Given the description of an element on the screen output the (x, y) to click on. 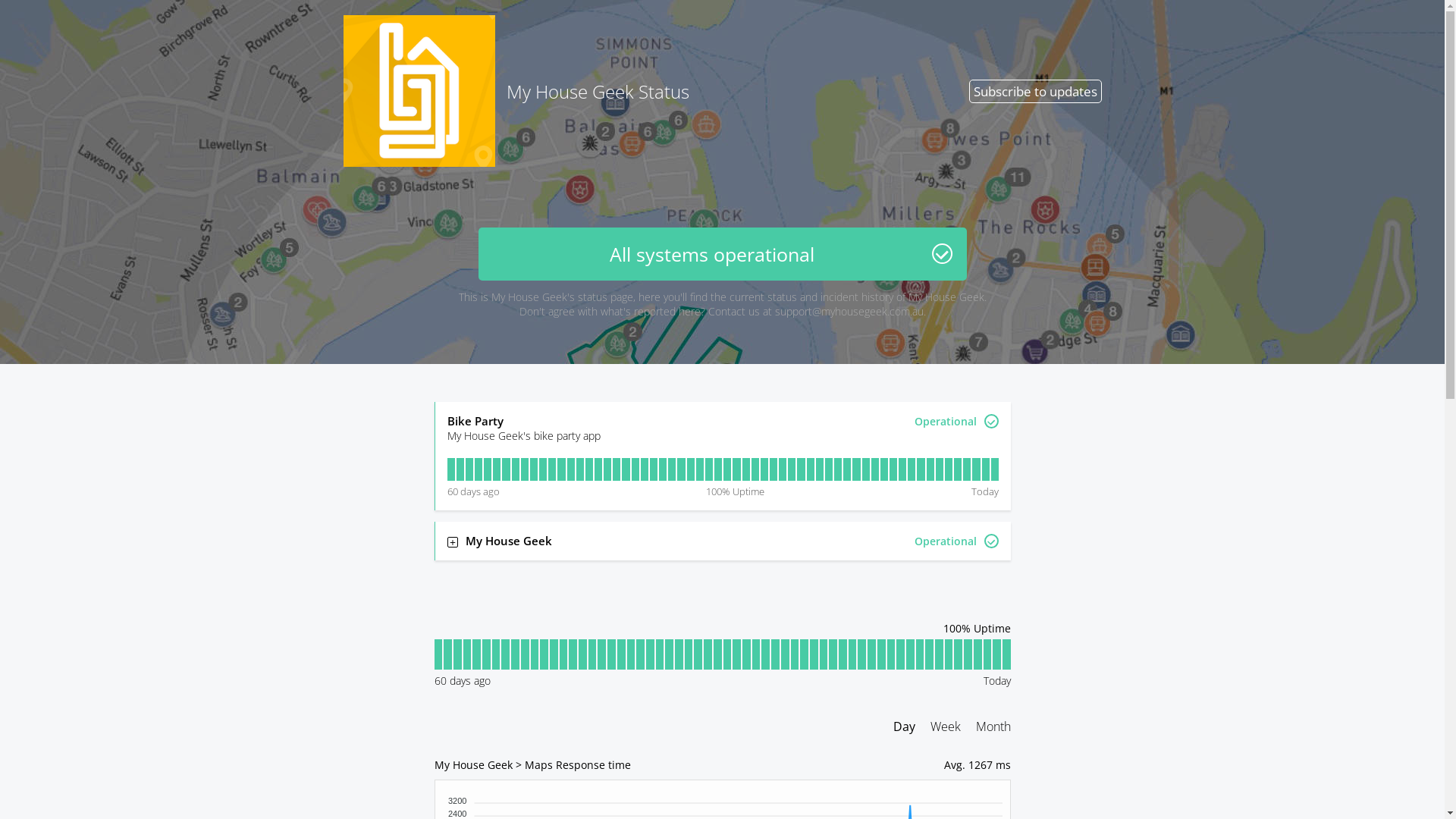
My House Geek Status Element type: text (515, 90)
Week Element type: text (944, 726)
Subscribe to updates Element type: text (1035, 90)
Day Element type: text (904, 726)
support@myhousegeek.com.au Element type: text (849, 311)
Month Element type: text (992, 726)
